Given the description of an element on the screen output the (x, y) to click on. 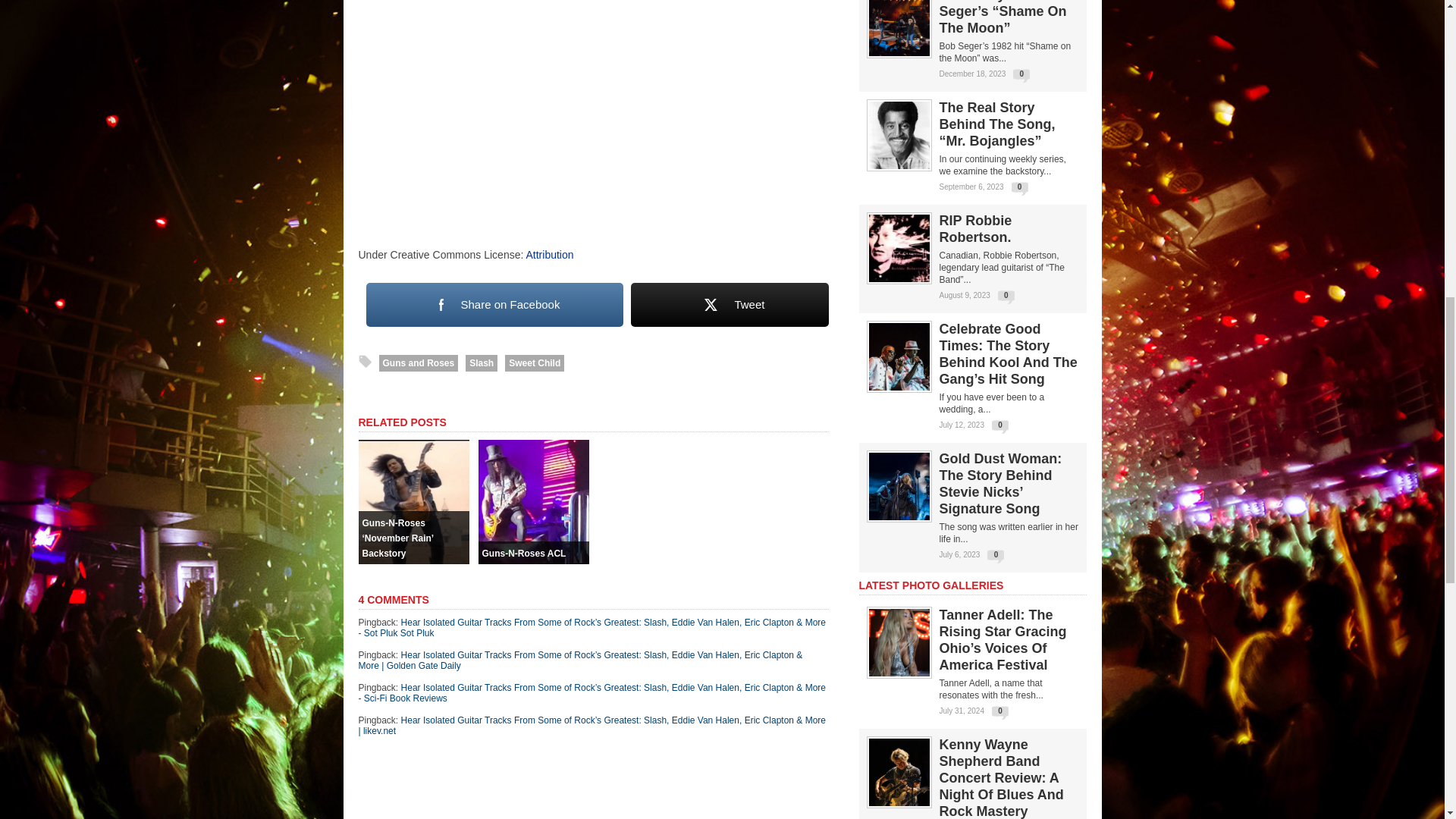
Share on Facebook (494, 304)
Attribution (549, 254)
RIP Robbie Robertson. (899, 278)
Guns-N-Roses ACL (532, 560)
